Given the description of an element on the screen output the (x, y) to click on. 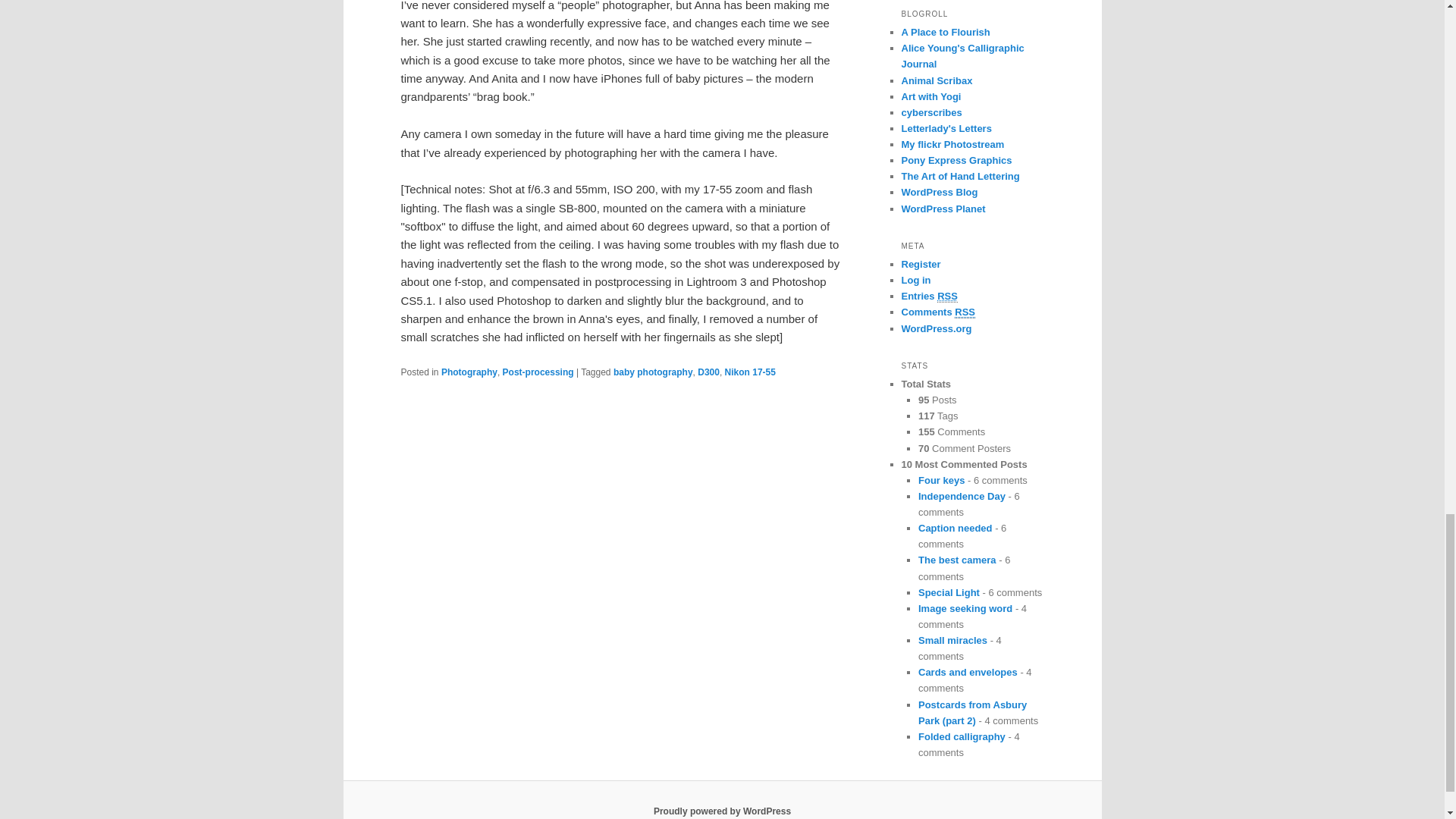
baby photography (652, 371)
Nikon 17-55 (750, 371)
Post-processing (537, 371)
D300 (708, 371)
Photography (469, 371)
View all posts in Post-processing (537, 371)
View all posts in Photography (469, 371)
